Given the description of an element on the screen output the (x, y) to click on. 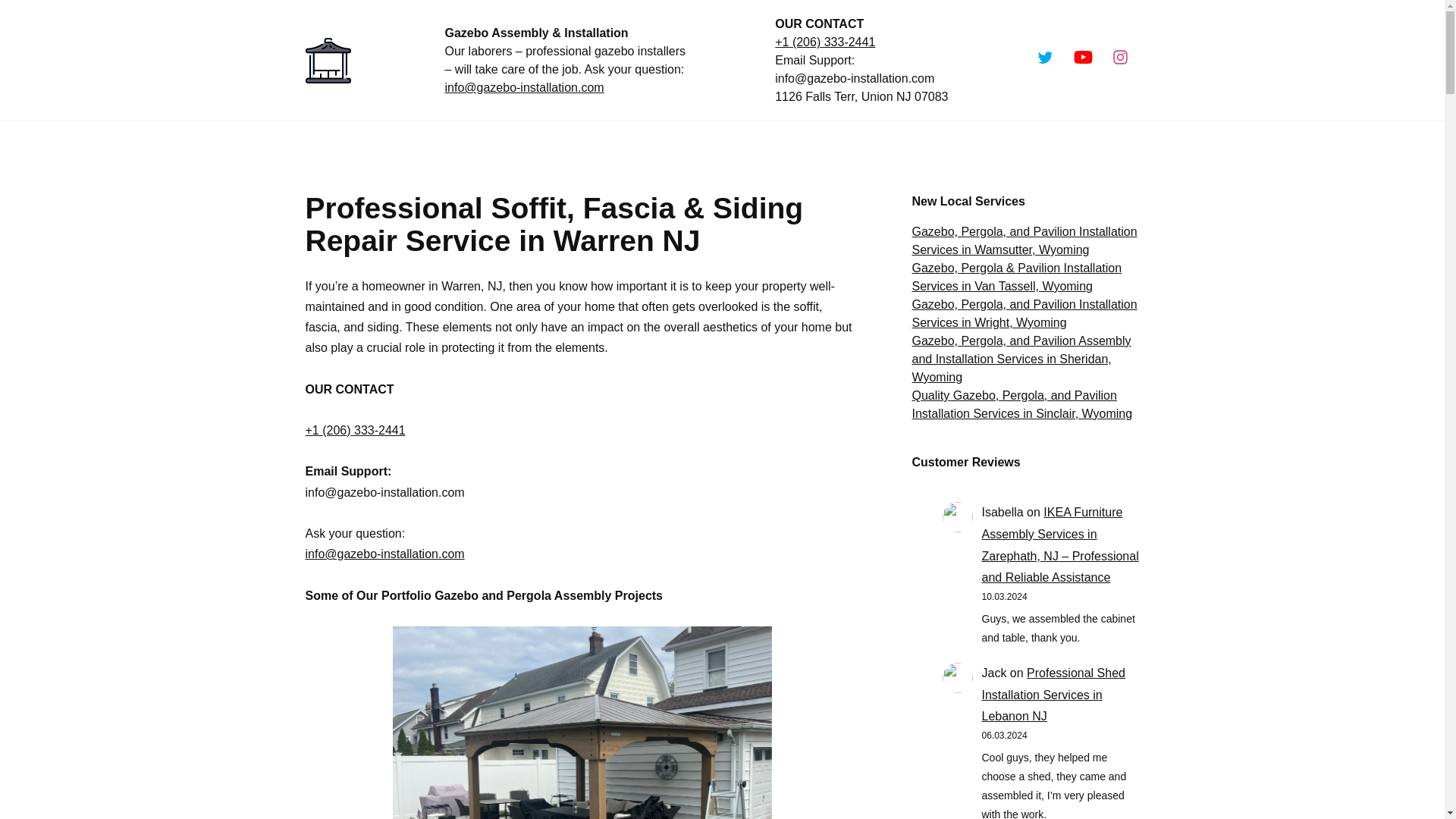
HANDYMAN NJ (527, 145)
PORTFOLIO (780, 145)
CUSTOMER REVIEWS (902, 145)
CONTACT US (1029, 145)
LOCATIONS USA (663, 145)
GAZEBO INSTALLATION (380, 145)
